Given the description of an element on the screen output the (x, y) to click on. 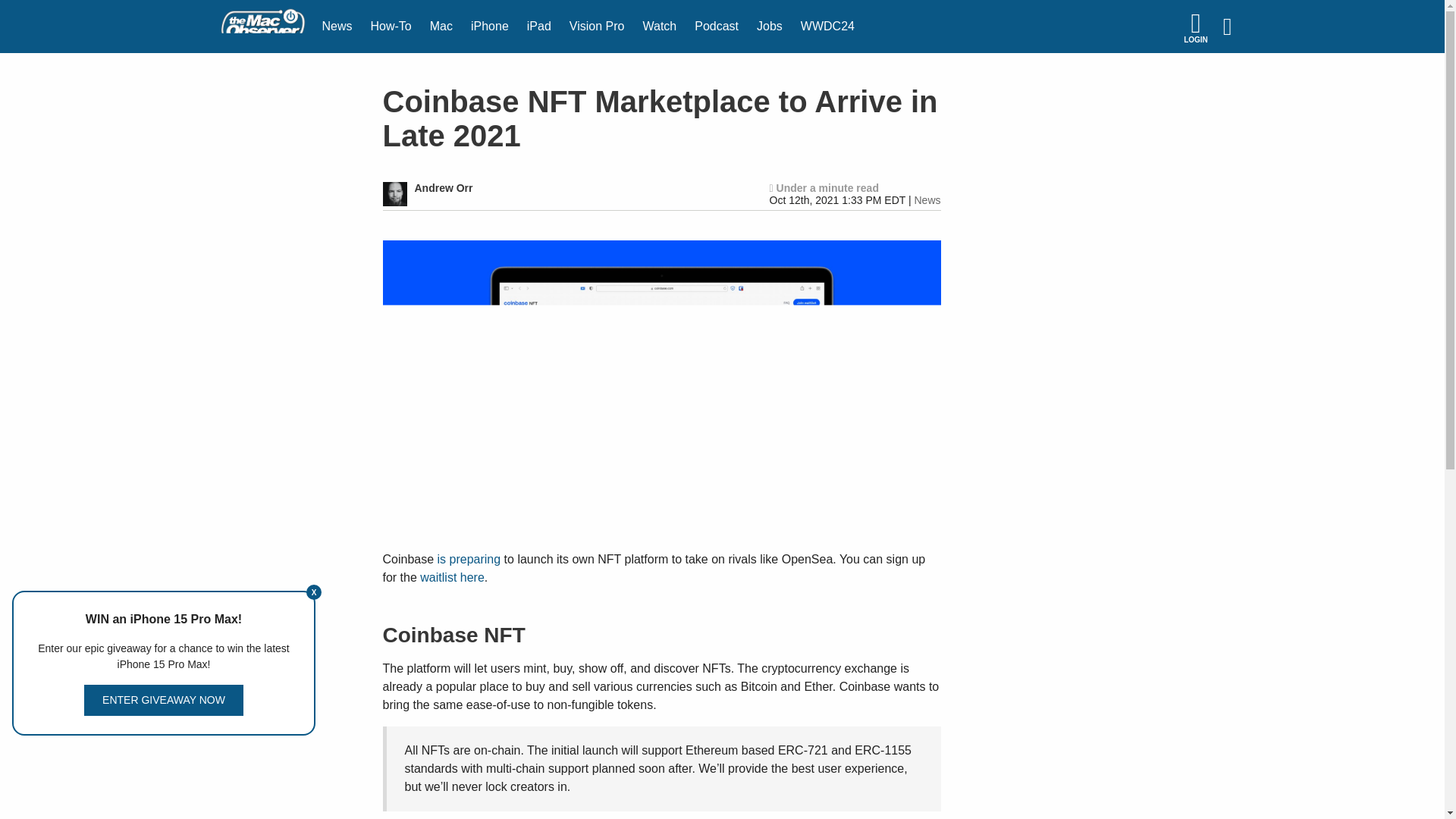
How-To (390, 26)
How-To (390, 26)
iPhone (489, 26)
waitlist here (451, 576)
WWDC24 (827, 26)
The Mac Observer (262, 26)
Vision Pro (596, 26)
News (927, 200)
Vision Pro (596, 26)
is preparing (469, 558)
Podcast (716, 26)
Watch (659, 26)
News (337, 26)
WWDC24 (827, 26)
iPhone (489, 26)
